Given the description of an element on the screen output the (x, y) to click on. 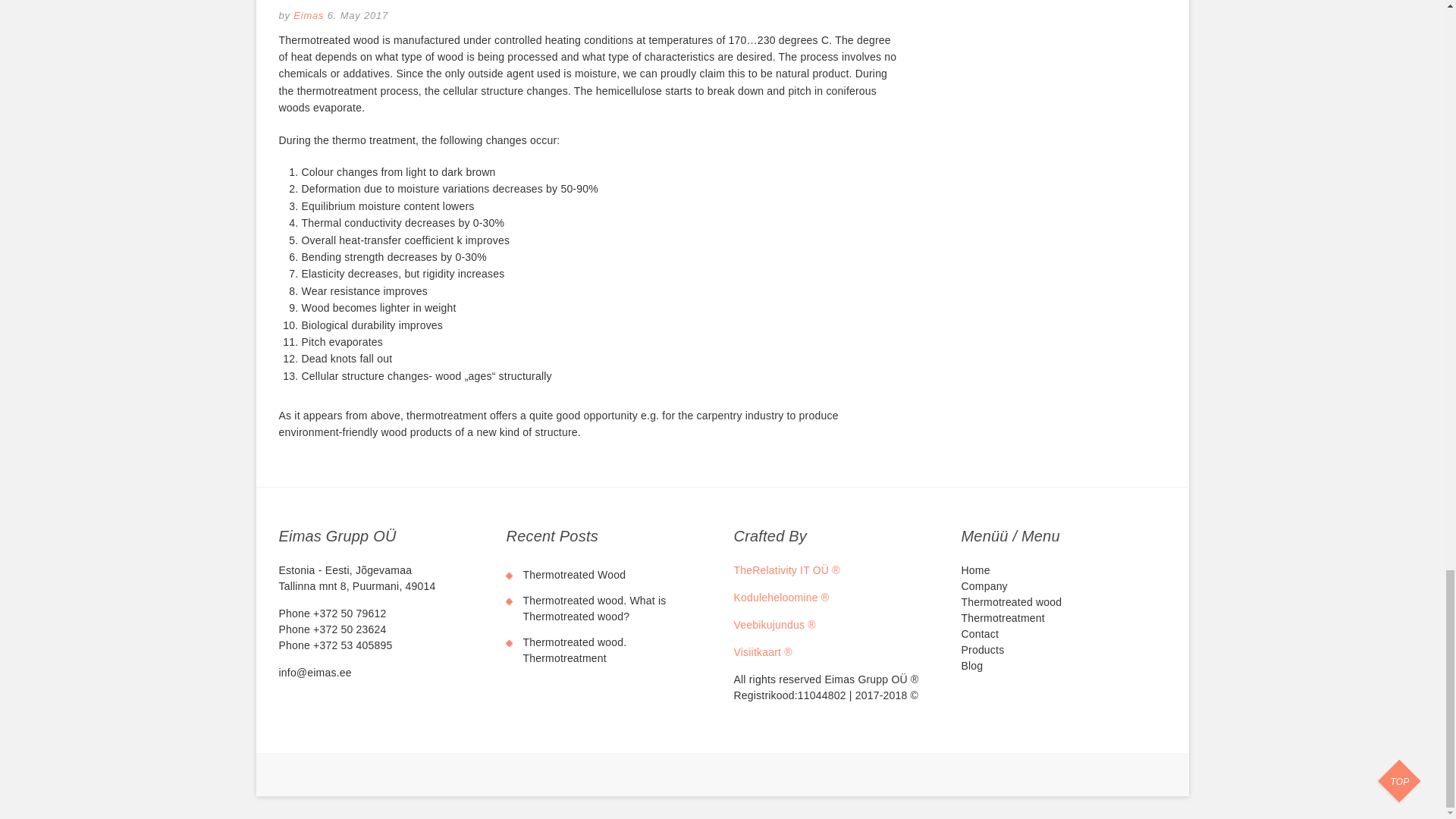
Eimas (306, 15)
05:29 PM (357, 15)
